Given the description of an element on the screen output the (x, y) to click on. 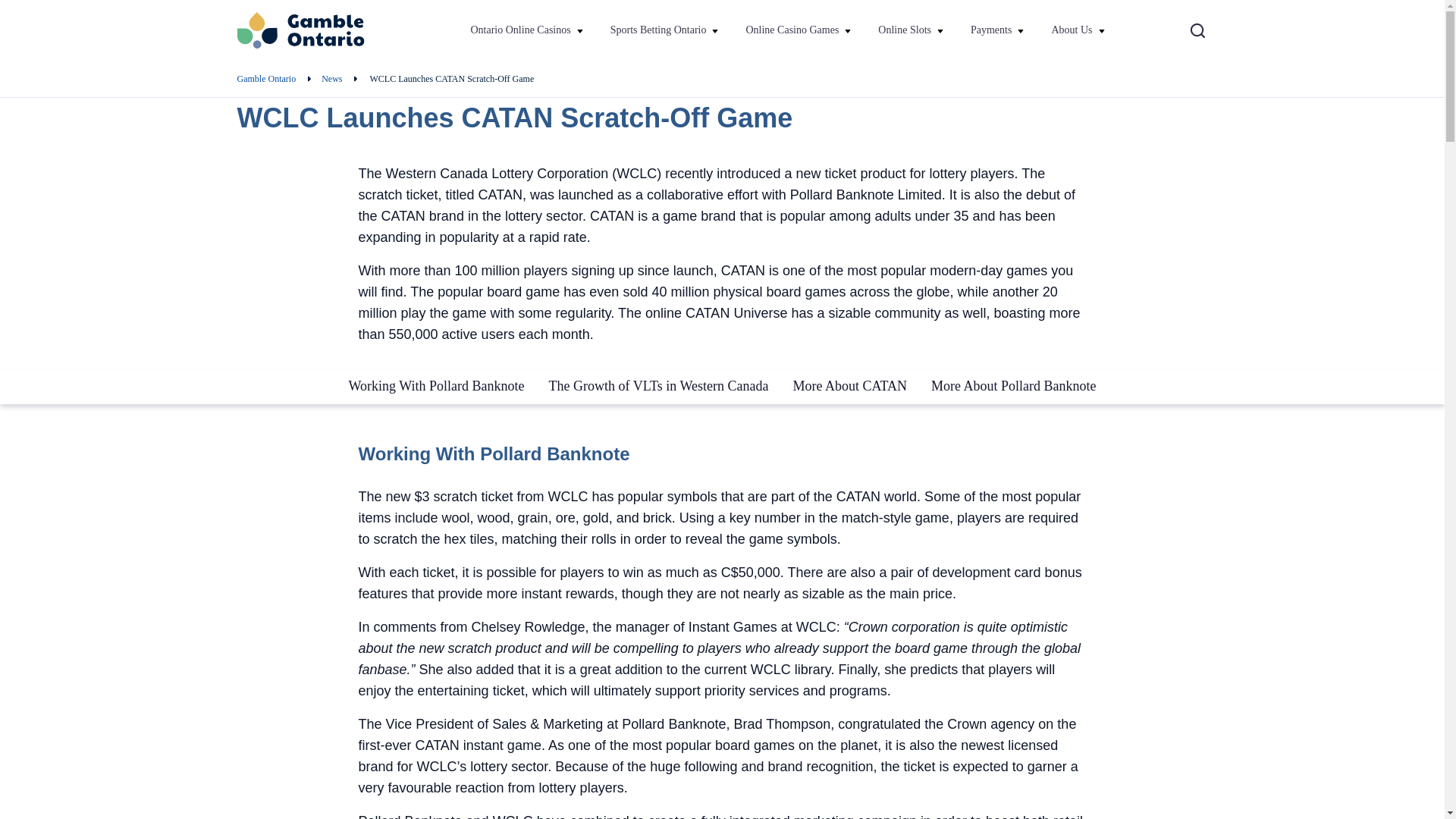
search (1196, 29)
Sports Betting Ontario (665, 30)
Online Casino Games (799, 30)
Gambleontario.ca Logo (299, 30)
Sports Betting Ontario (658, 29)
Ontario Online Casinos (520, 29)
Ontario Online Casinos (527, 30)
Online Casino Games (791, 29)
Online Slots (912, 30)
